Given the description of an element on the screen output the (x, y) to click on. 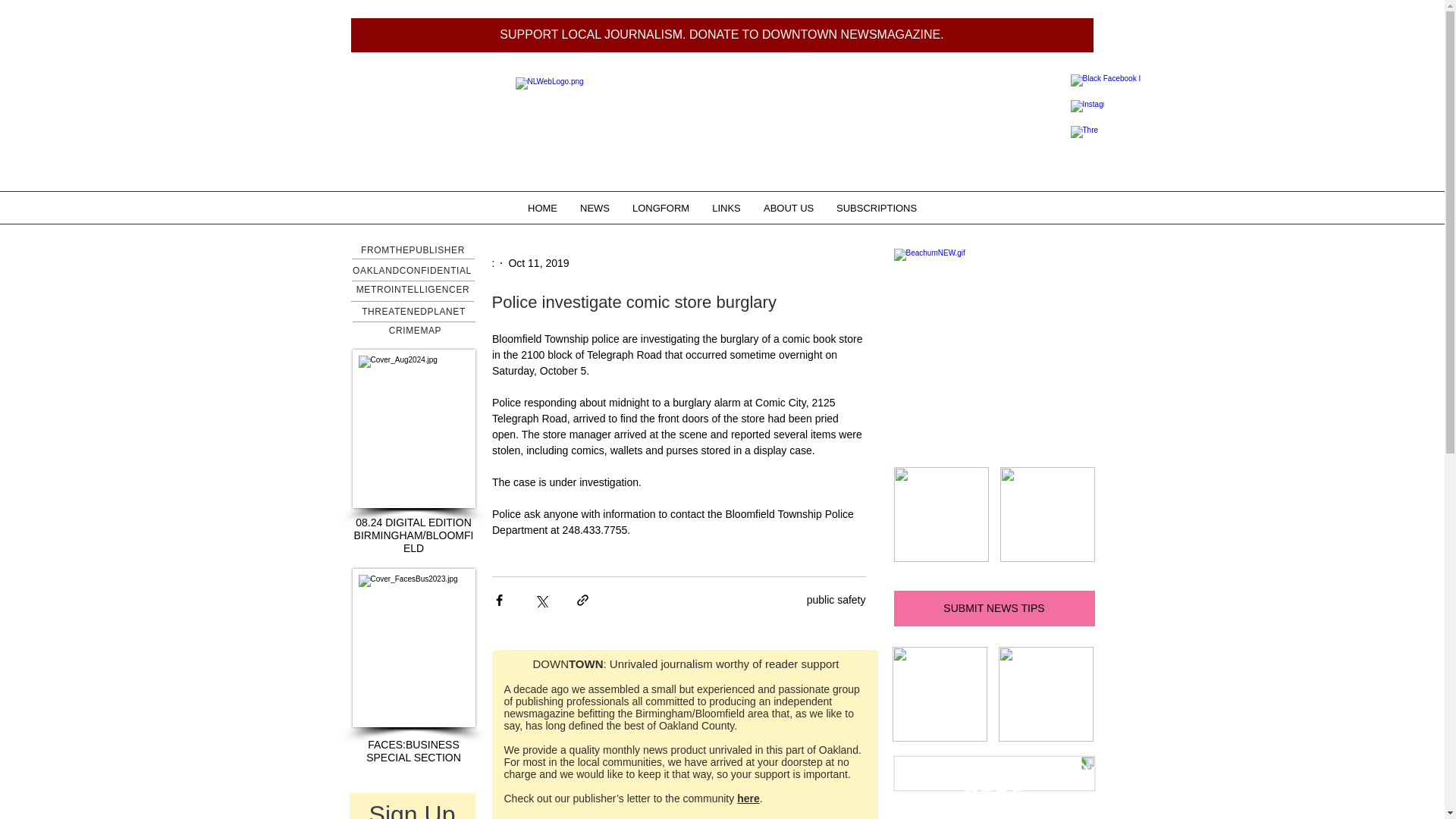
HOME (542, 208)
Oct 11, 2019 (538, 262)
SUBSCRIPTIONS (876, 208)
public safety (836, 599)
LONGFORM (660, 208)
SUPPORT LOCAL JOURNALISM. DONATE TO DOWNTOWN NEWSMAGAZINE. (721, 35)
